Given the description of an element on the screen output the (x, y) to click on. 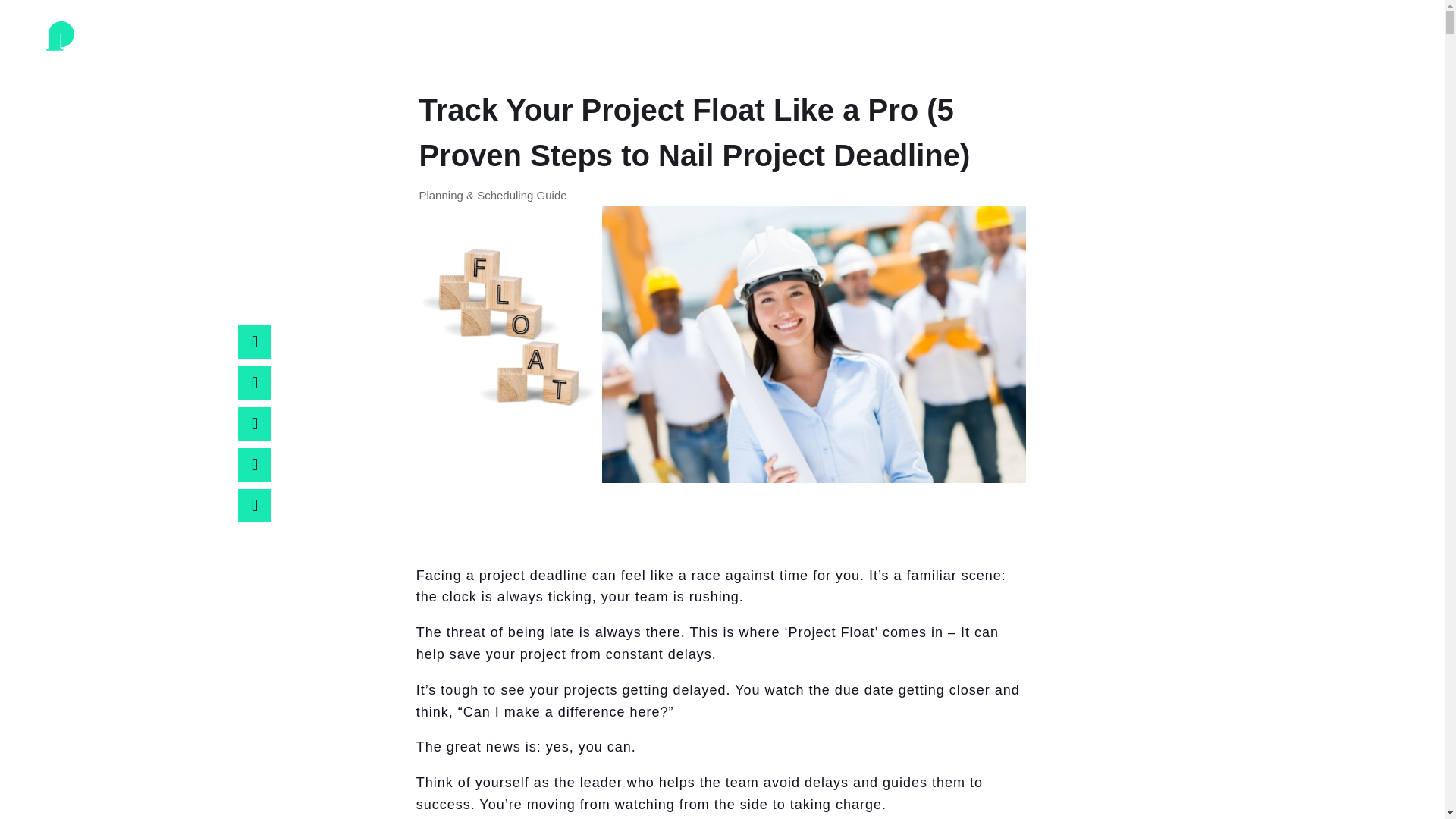
WELCOME TO PLANRAMA (1073, 52)
CONTACT (1388, 52)
ARTICLES (1301, 52)
ABOUT US (1214, 52)
